Given the description of an element on the screen output the (x, y) to click on. 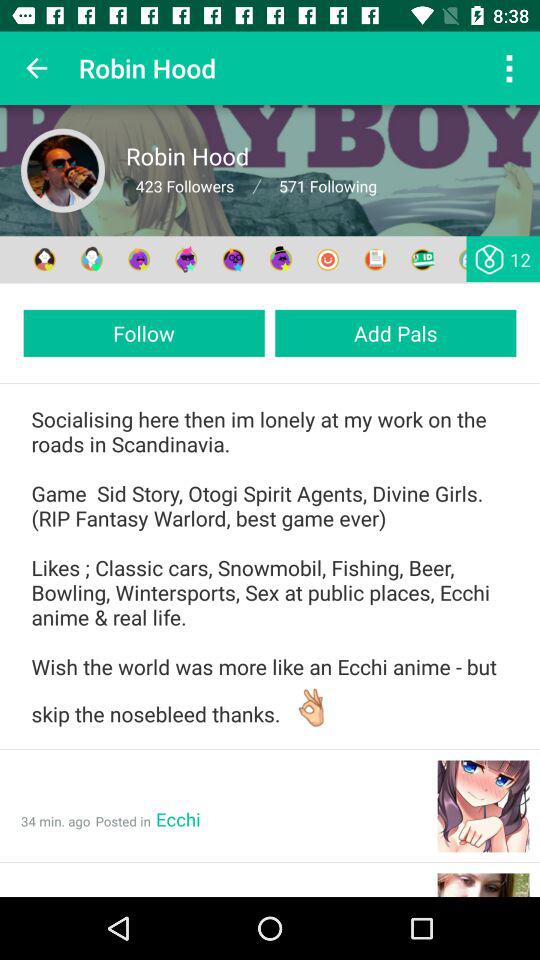
icon (63, 170)
